Given the description of an element on the screen output the (x, y) to click on. 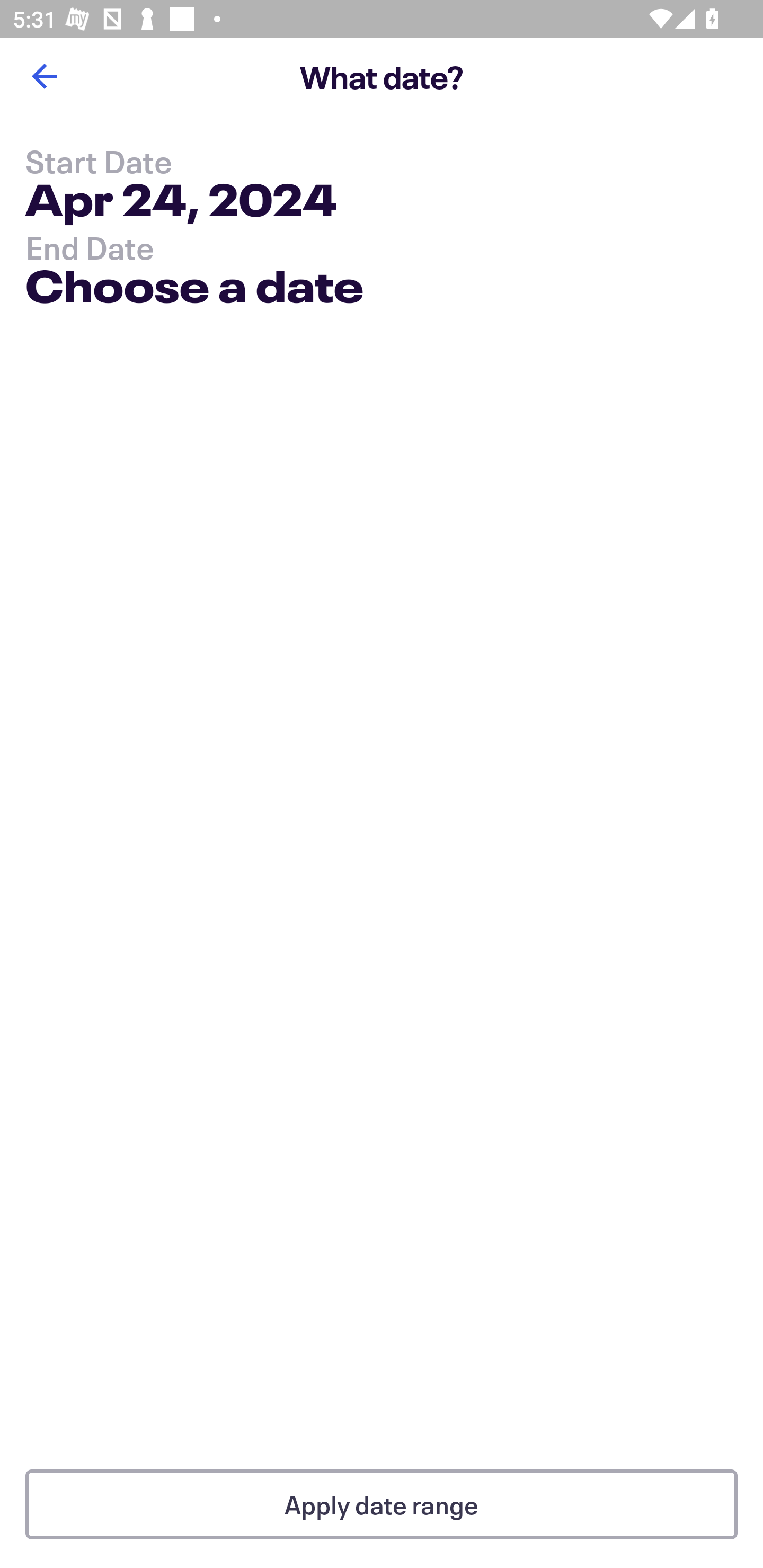
Back button (44, 75)
Apr 24, 2024 (181, 203)
Choose a date (194, 289)
Apply date range (381, 1504)
